Given the description of an element on the screen output the (x, y) to click on. 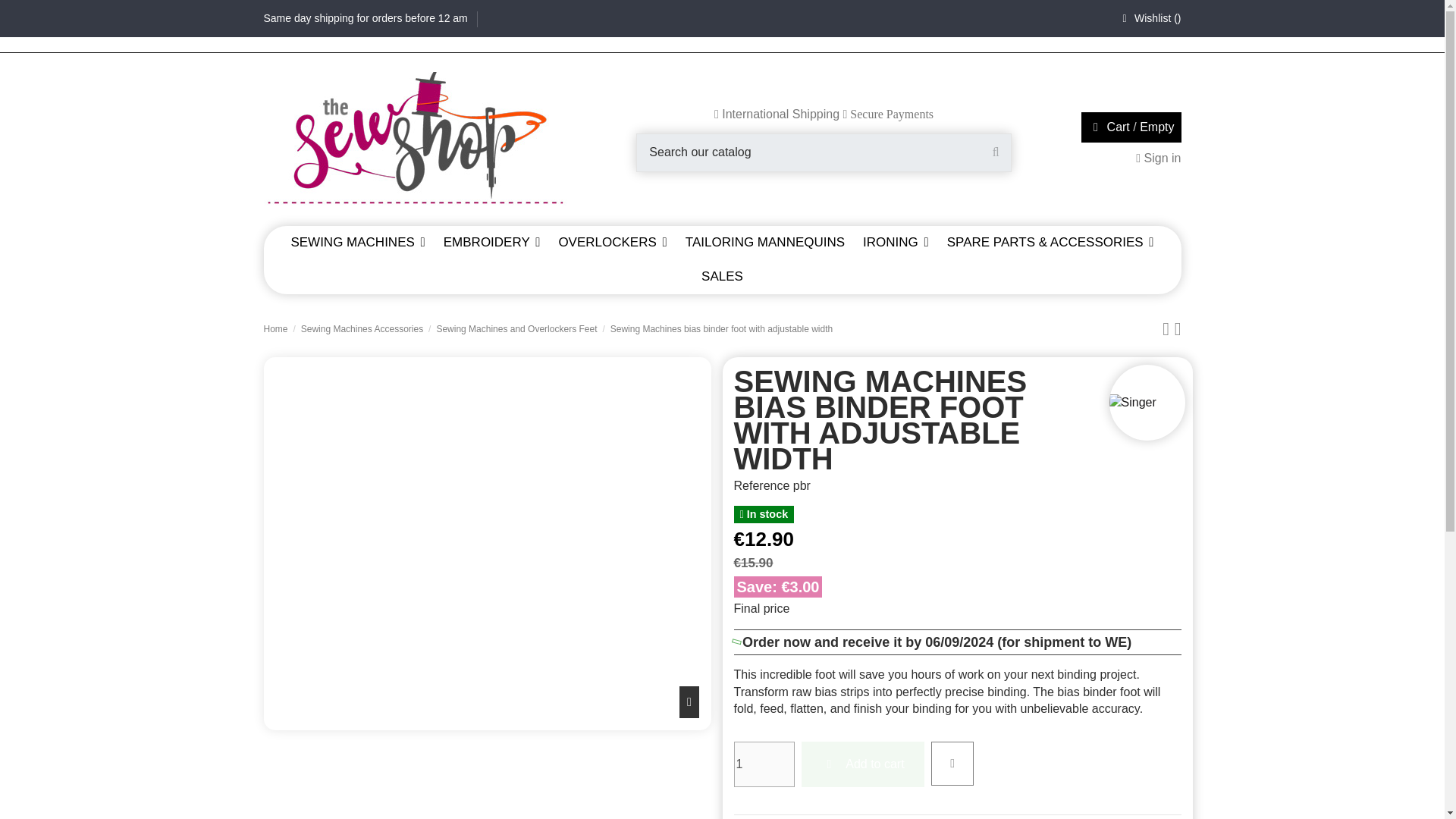
1 (763, 764)
Sign in (1157, 157)
Sewing Machines bias binder foot with adjustable width (440, 780)
SEWING MACHINES (357, 243)
Log in to your customer account (1157, 157)
EMBROIDERY (491, 243)
Add to wishlist (952, 763)
OVERLOCKERS (611, 243)
Same day shipping for orders before 12 am (366, 18)
